Given the description of an element on the screen output the (x, y) to click on. 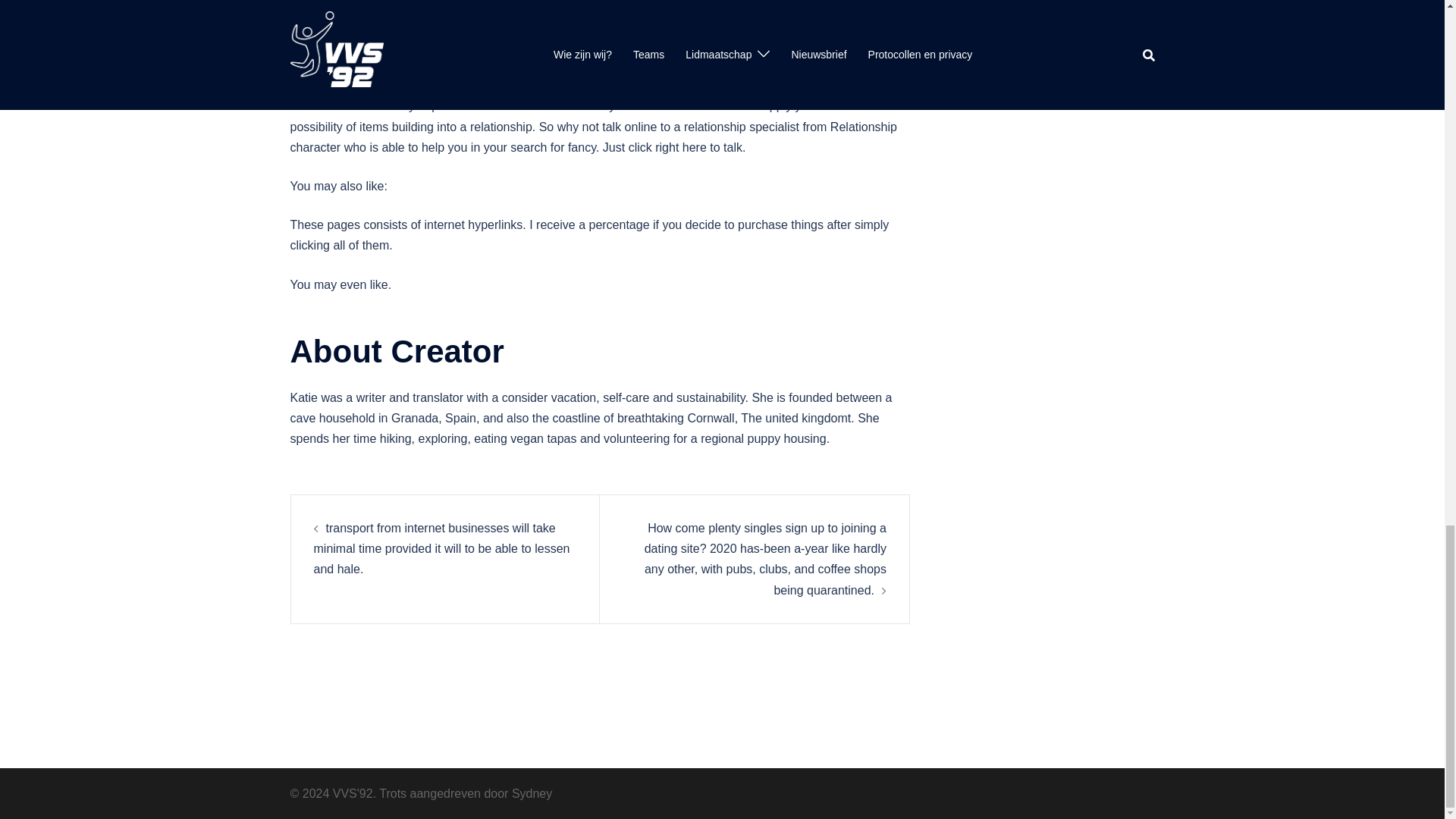
Sydney (531, 793)
